Given the description of an element on the screen output the (x, y) to click on. 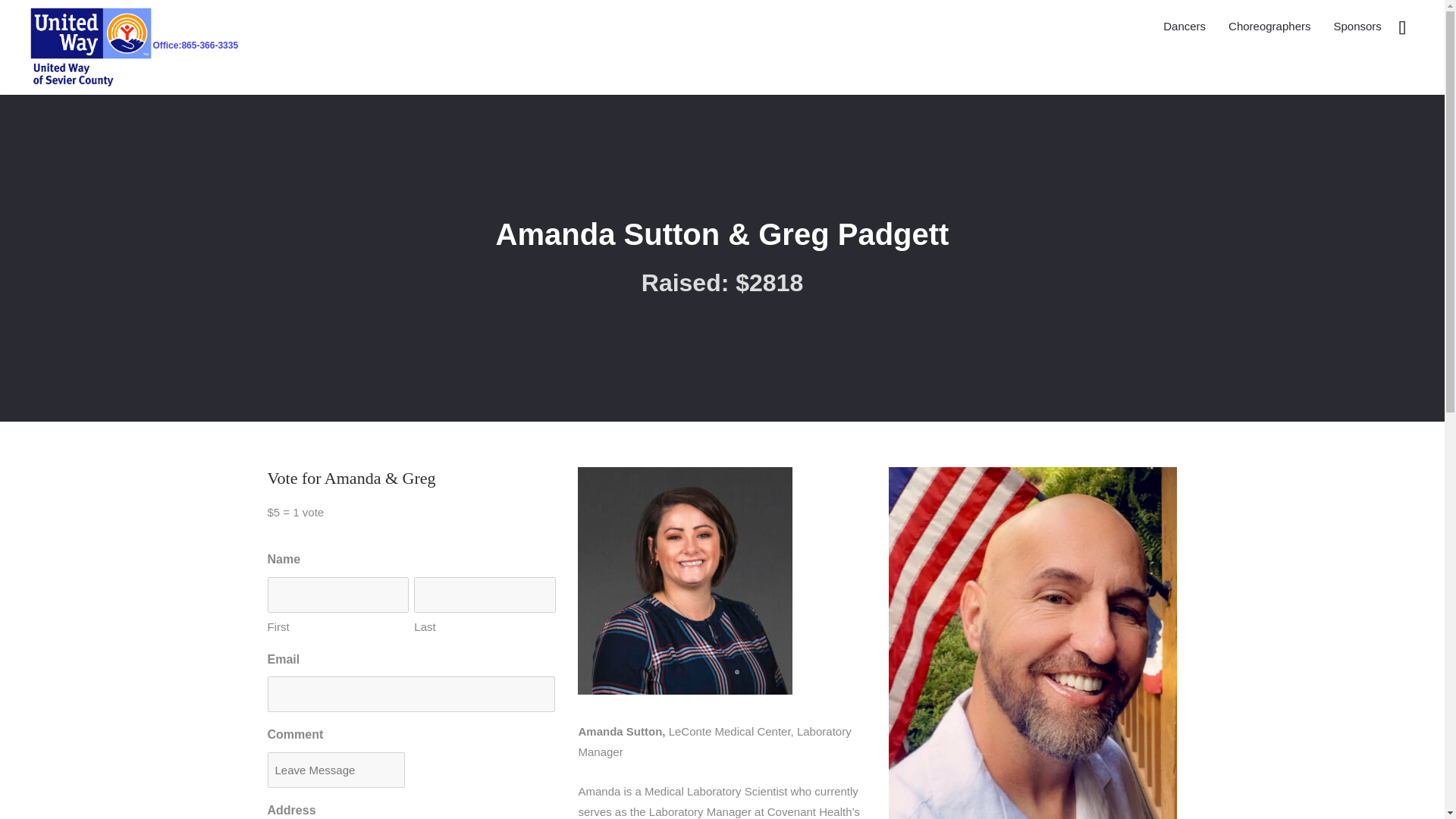
Dancers (1184, 26)
Dancing with the Stars for Sevier County United Way (134, 47)
Submit (29, 20)
Choreographers (1269, 26)
Sponsors (1356, 26)
